Given the description of an element on the screen output the (x, y) to click on. 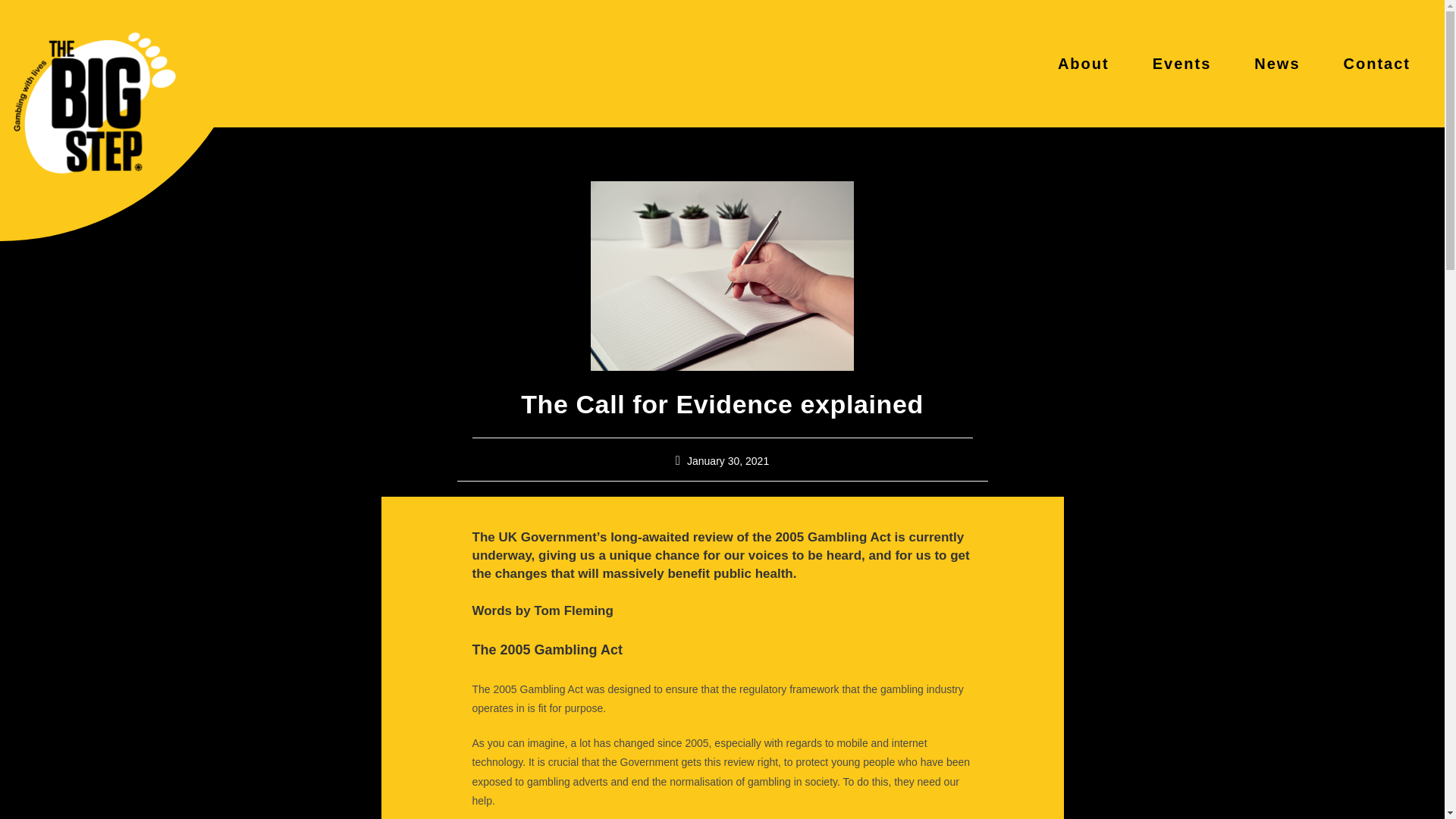
About (1083, 63)
Events (1182, 63)
News (1277, 63)
Contact (1377, 63)
